Given the description of an element on the screen output the (x, y) to click on. 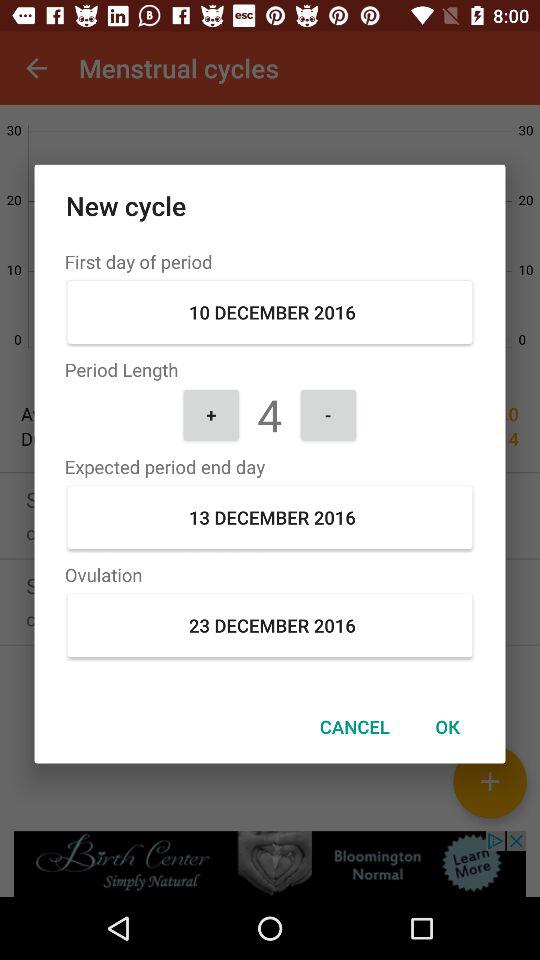
press the item below period length item (211, 414)
